Given the description of an element on the screen output the (x, y) to click on. 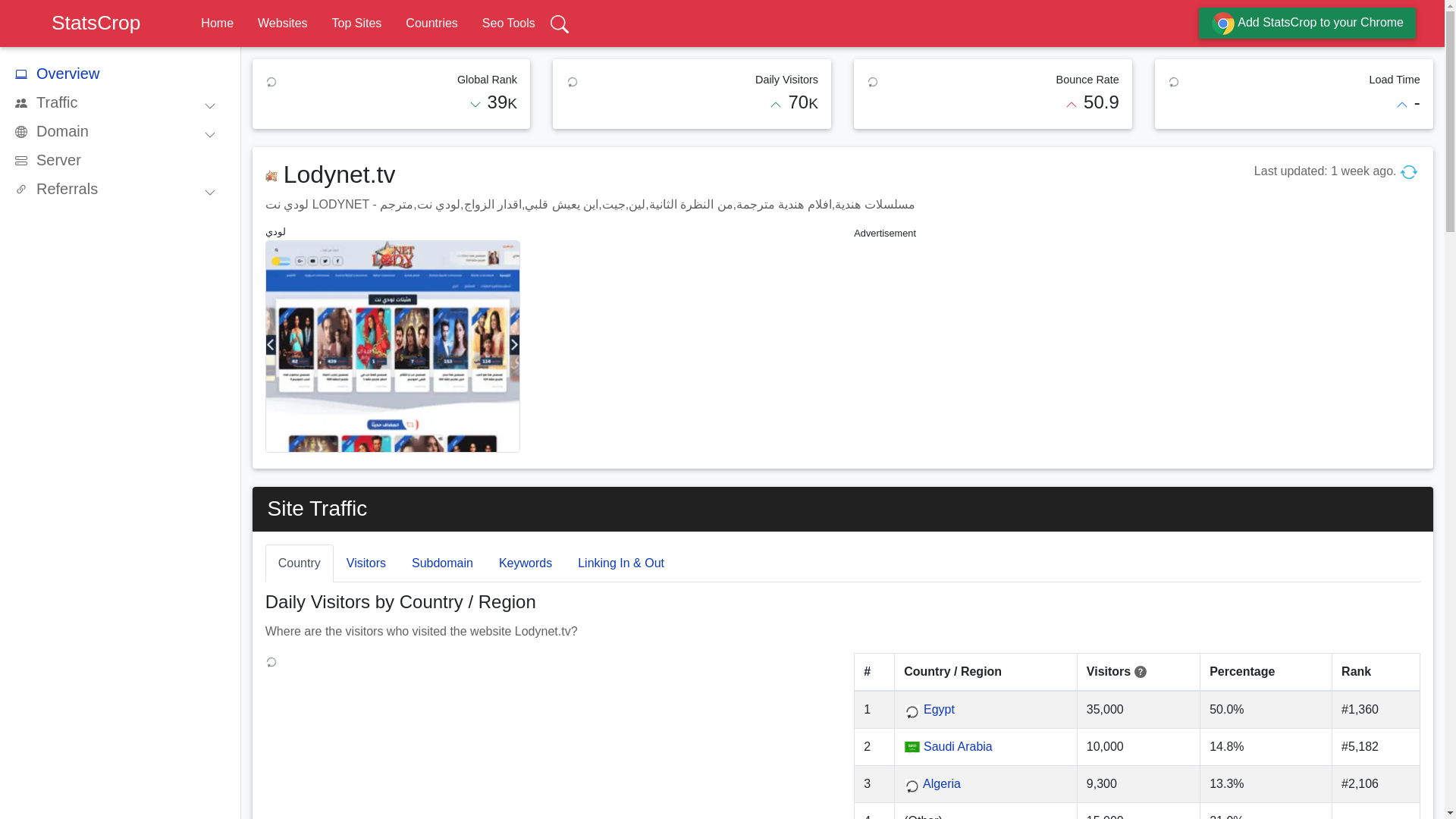
Keywords (525, 563)
Country (298, 563)
Top Sites (356, 22)
Websites (282, 22)
Lodynet.tv (339, 174)
Home (216, 22)
Traffic (121, 102)
Add StatsCrop to your Chrome (1306, 22)
70,000 (802, 101)
Egypt (939, 708)
